Given the description of an element on the screen output the (x, y) to click on. 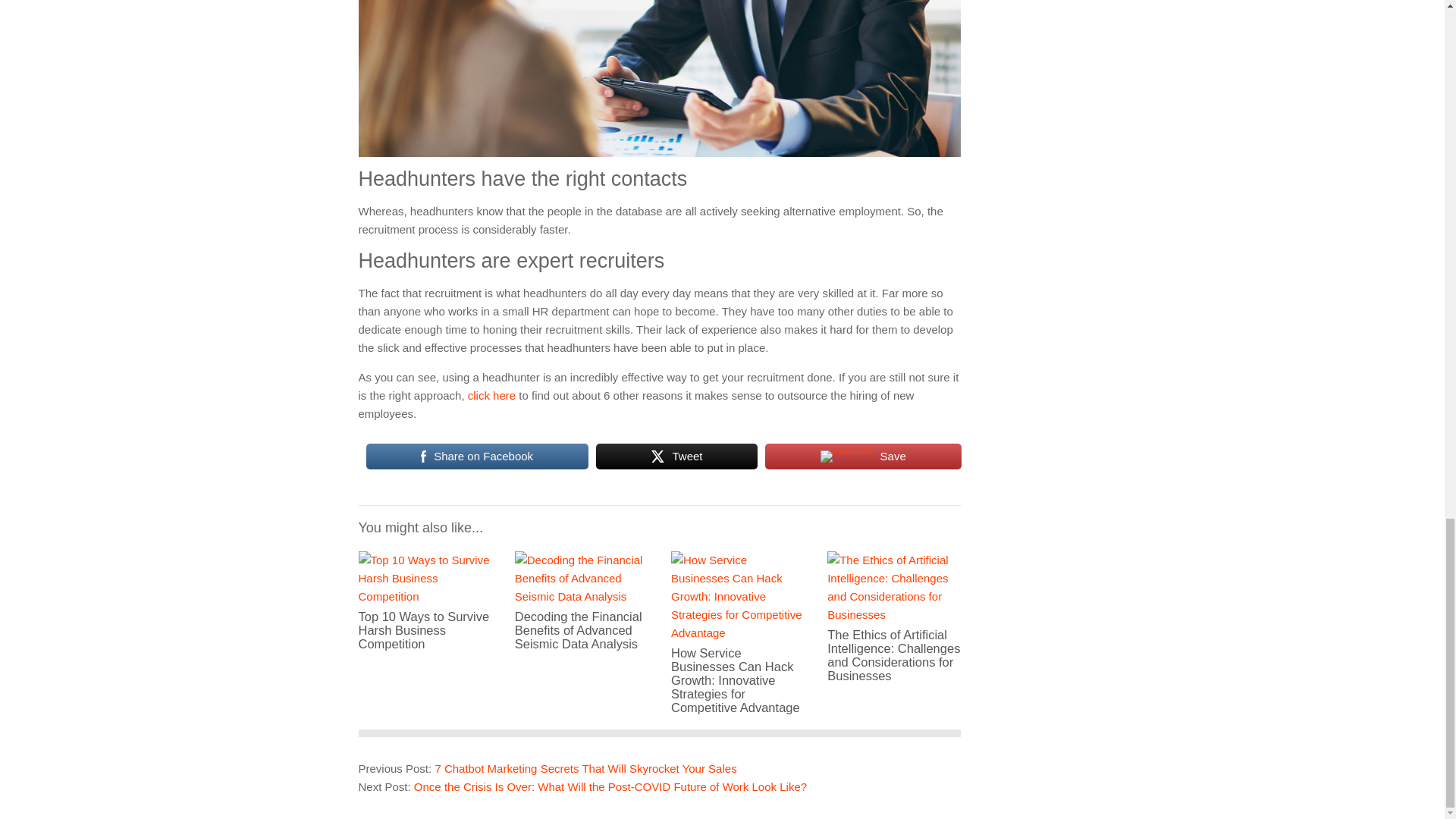
click here (491, 395)
Share on Facebook (476, 456)
Tweet (676, 456)
7 Chatbot Marketing Secrets That Will Skyrocket Your Sales (584, 768)
Top 10 Ways to Survive Harsh Business Competition (425, 619)
Save (862, 456)
